Given the description of an element on the screen output the (x, y) to click on. 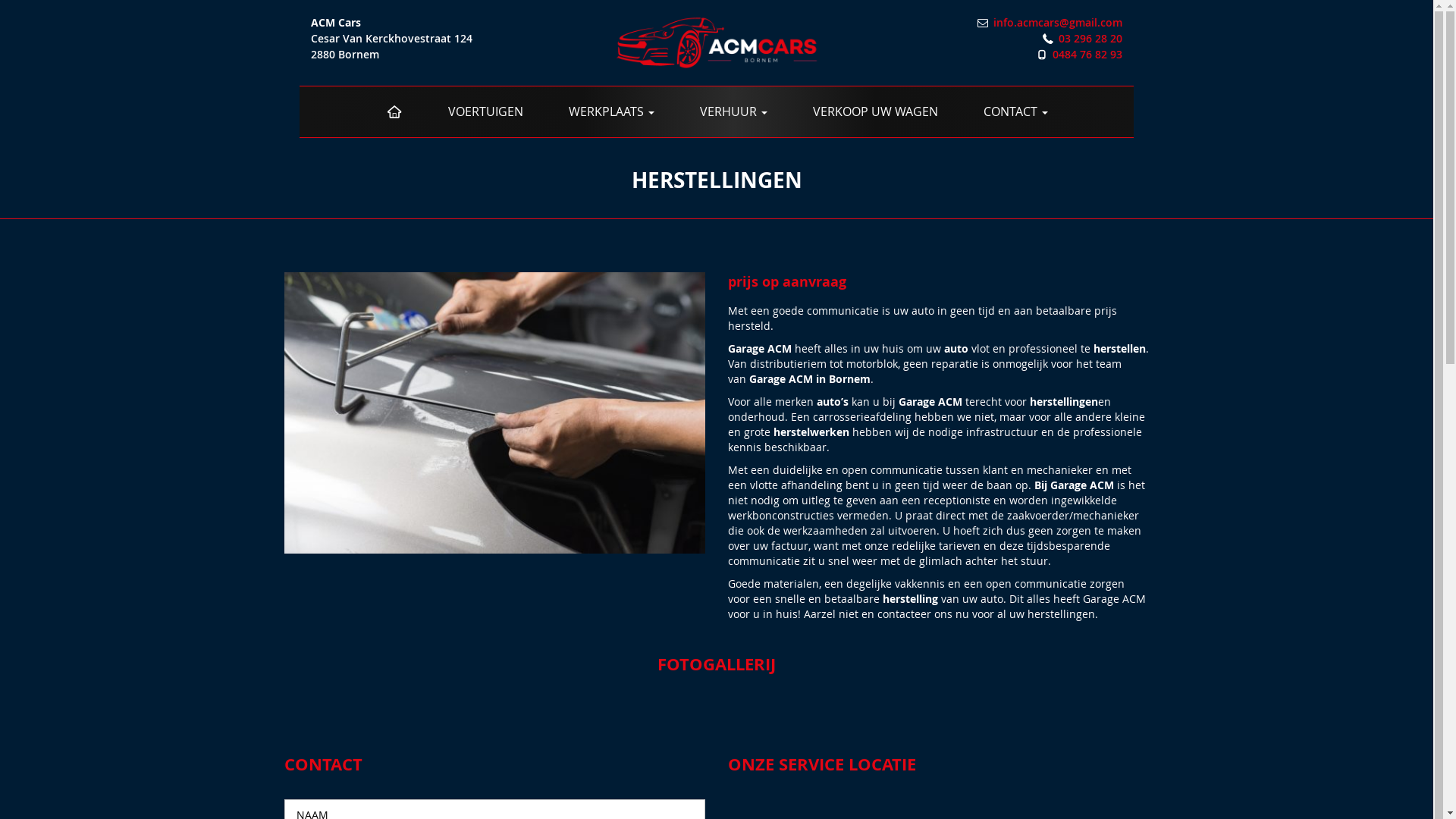
VERHUUR Element type: text (733, 111)
VERKOOP UW WAGEN Element type: text (875, 111)
info.acmcars@gmail.com Element type: text (1057, 22)
VOERTUIGEN Element type: text (485, 111)
WERKPLAATS Element type: text (611, 111)
ACM Cars Element type: hover (716, 41)
0484 76 82 93 Element type: text (1087, 54)
CONTACT Element type: text (1015, 111)
03 296 28 20 Element type: text (1090, 38)
